Given the description of an element on the screen output the (x, y) to click on. 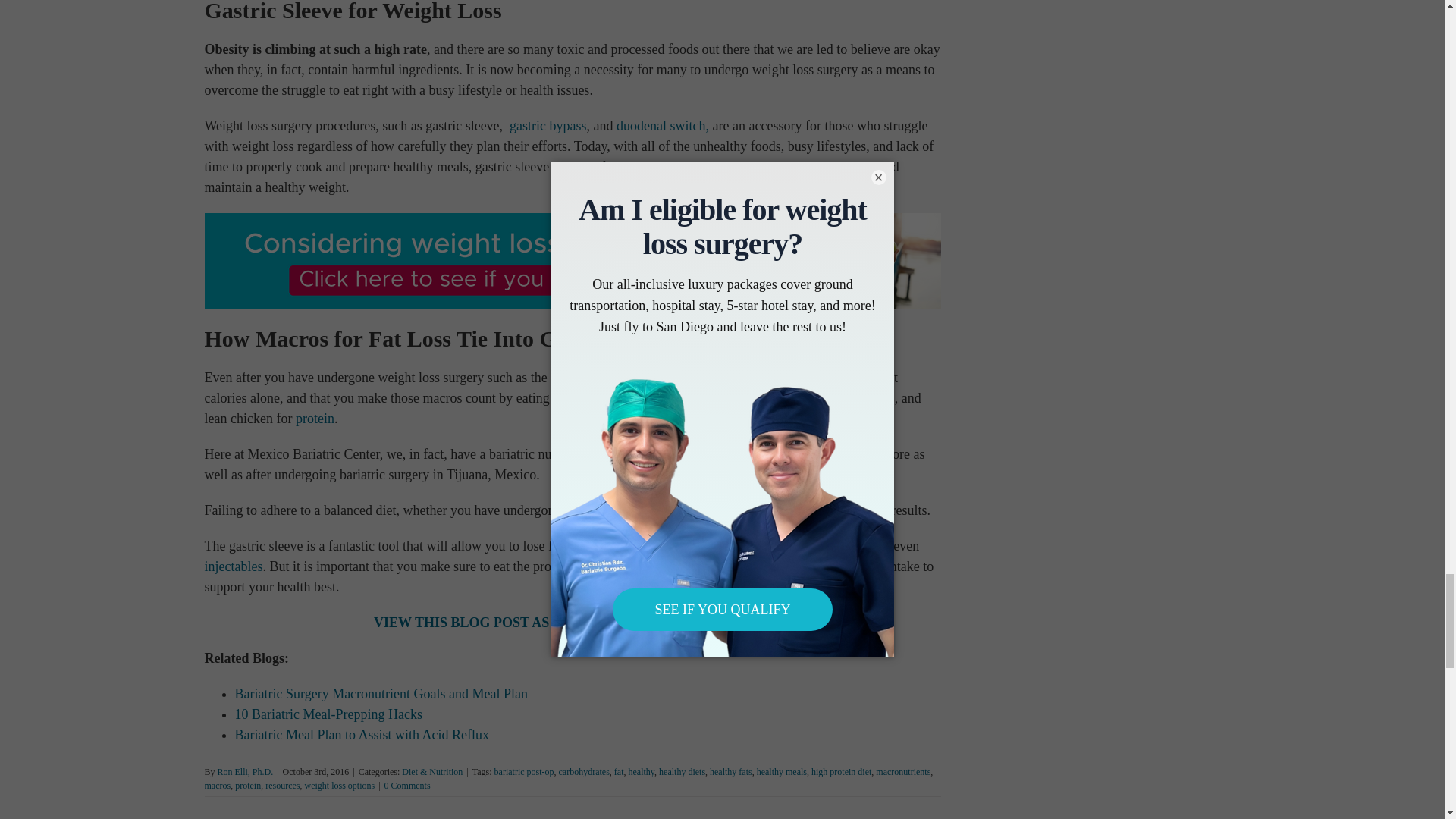
Posts by Ron Elli, Ph.D. (244, 771)
